Given the description of an element on the screen output the (x, y) to click on. 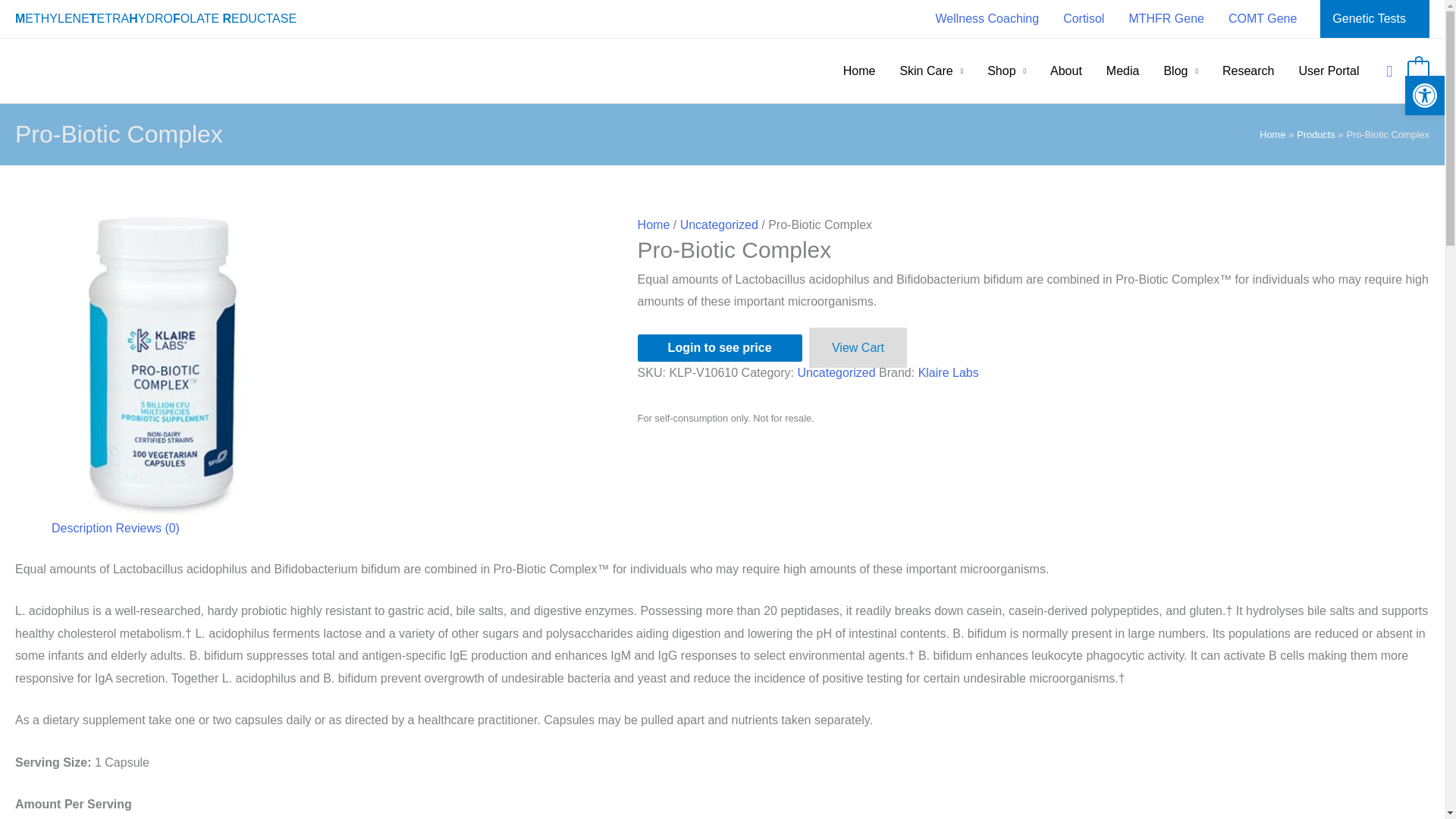
Genetic Tests (1369, 18)
Articles (1180, 70)
klp-pro-biotic-complex (166, 364)
Skin Care (930, 70)
Blog (1180, 70)
Home (859, 70)
Cortisol (1083, 18)
Shop (1006, 70)
Wellness Coaching (987, 18)
COMT Gene (1261, 18)
